Given the description of an element on the screen output the (x, y) to click on. 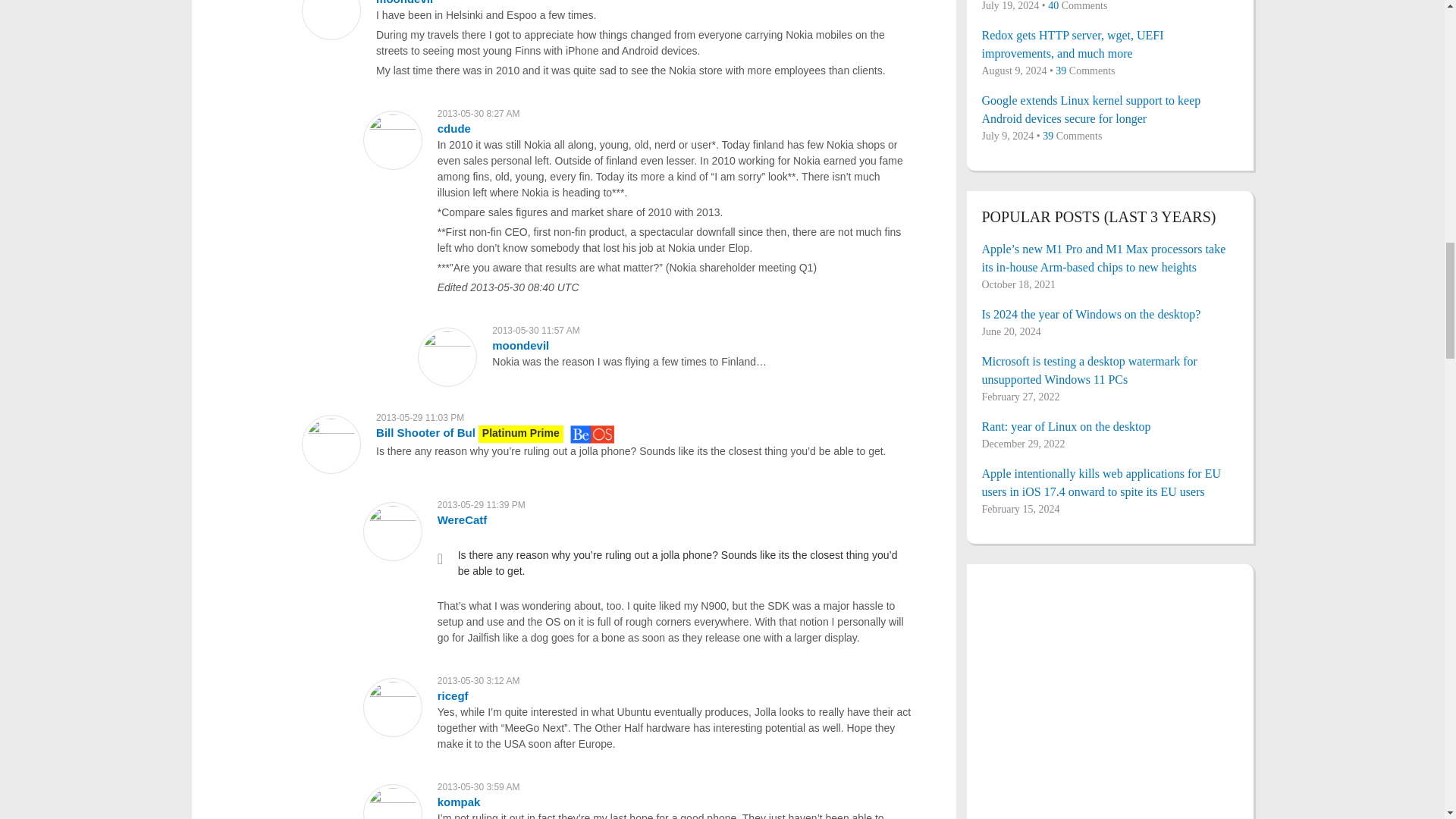
cdude (454, 128)
Bill Shooter of Bul (425, 431)
kompak (459, 801)
WereCatf (462, 519)
ricegf (453, 695)
moondevil (403, 2)
moondevil (520, 345)
